Given the description of an element on the screen output the (x, y) to click on. 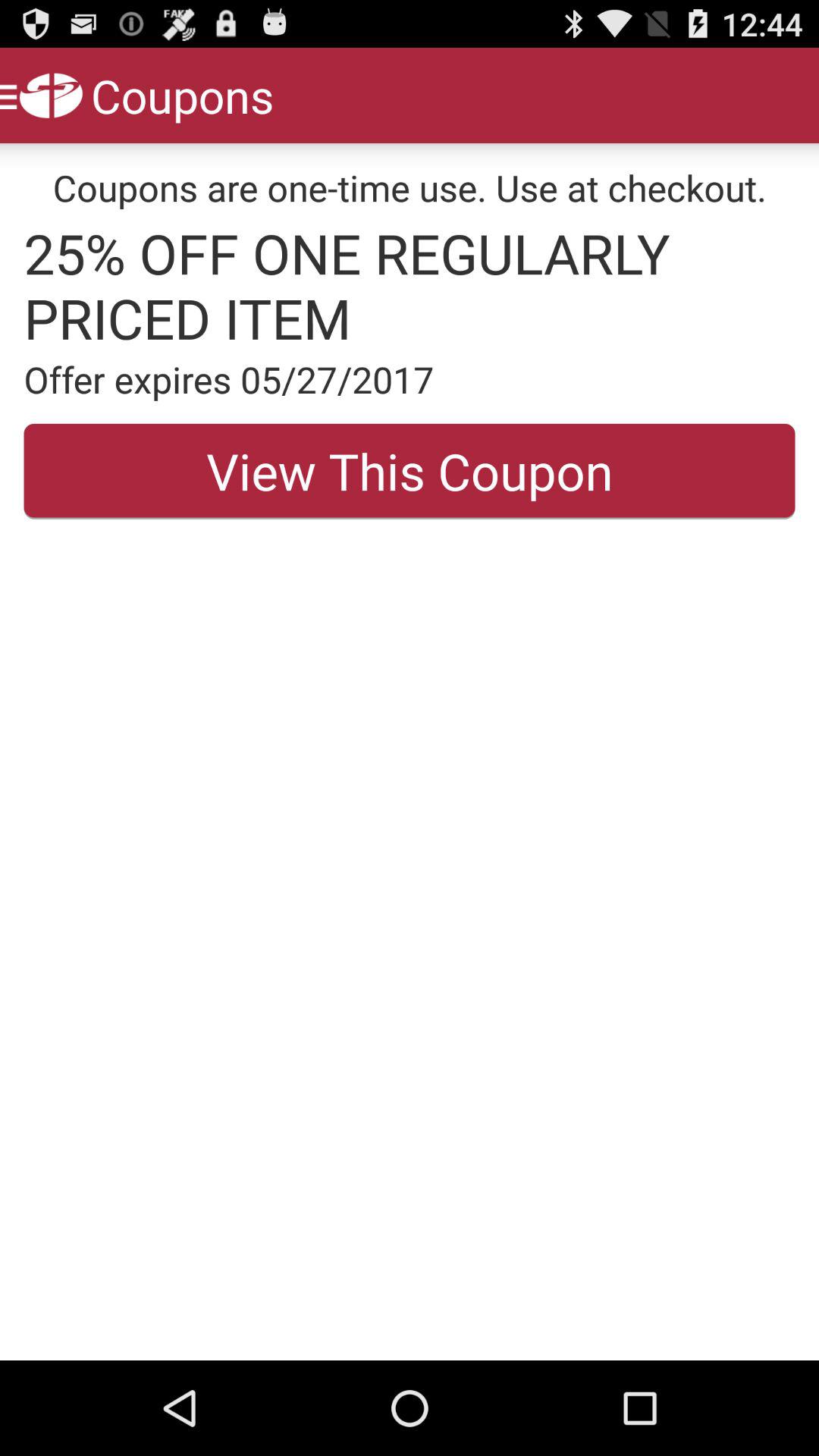
click the item above offer expires 05 icon (409, 285)
